Given the description of an element on the screen output the (x, y) to click on. 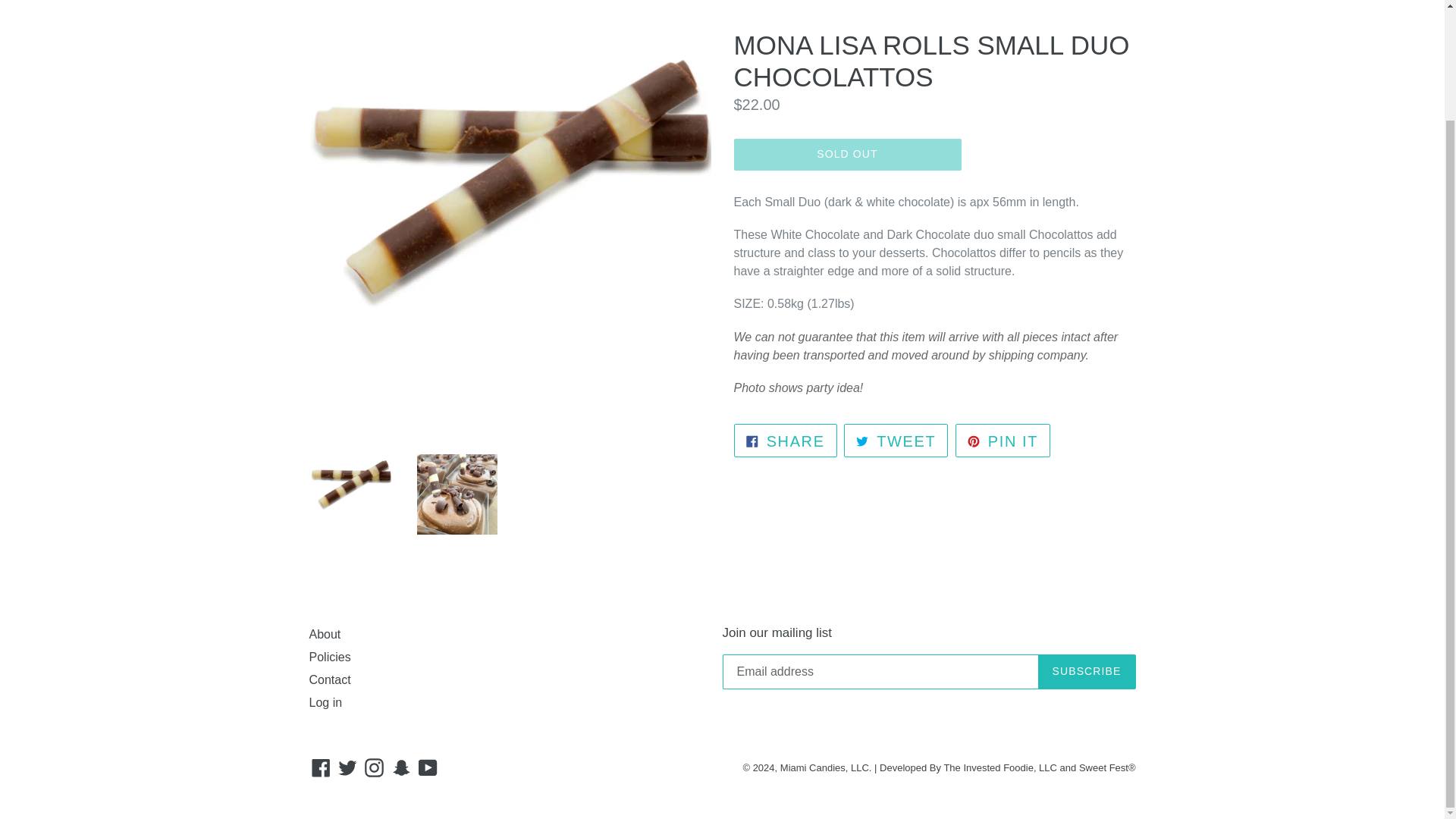
Miami Candies, LLC. on Facebook (785, 440)
SOLD OUT (320, 767)
Miami Candies, LLC. on Twitter (846, 154)
Miami Candies, LLC. on YouTube (347, 767)
Pin on Pinterest (427, 767)
Share on Facebook (1002, 440)
Miami Candies, LLC. on Snapchat (785, 440)
Miami Candies, LLC. on Instagram (401, 767)
Tweet on Twitter (373, 767)
